Given the description of an element on the screen output the (x, y) to click on. 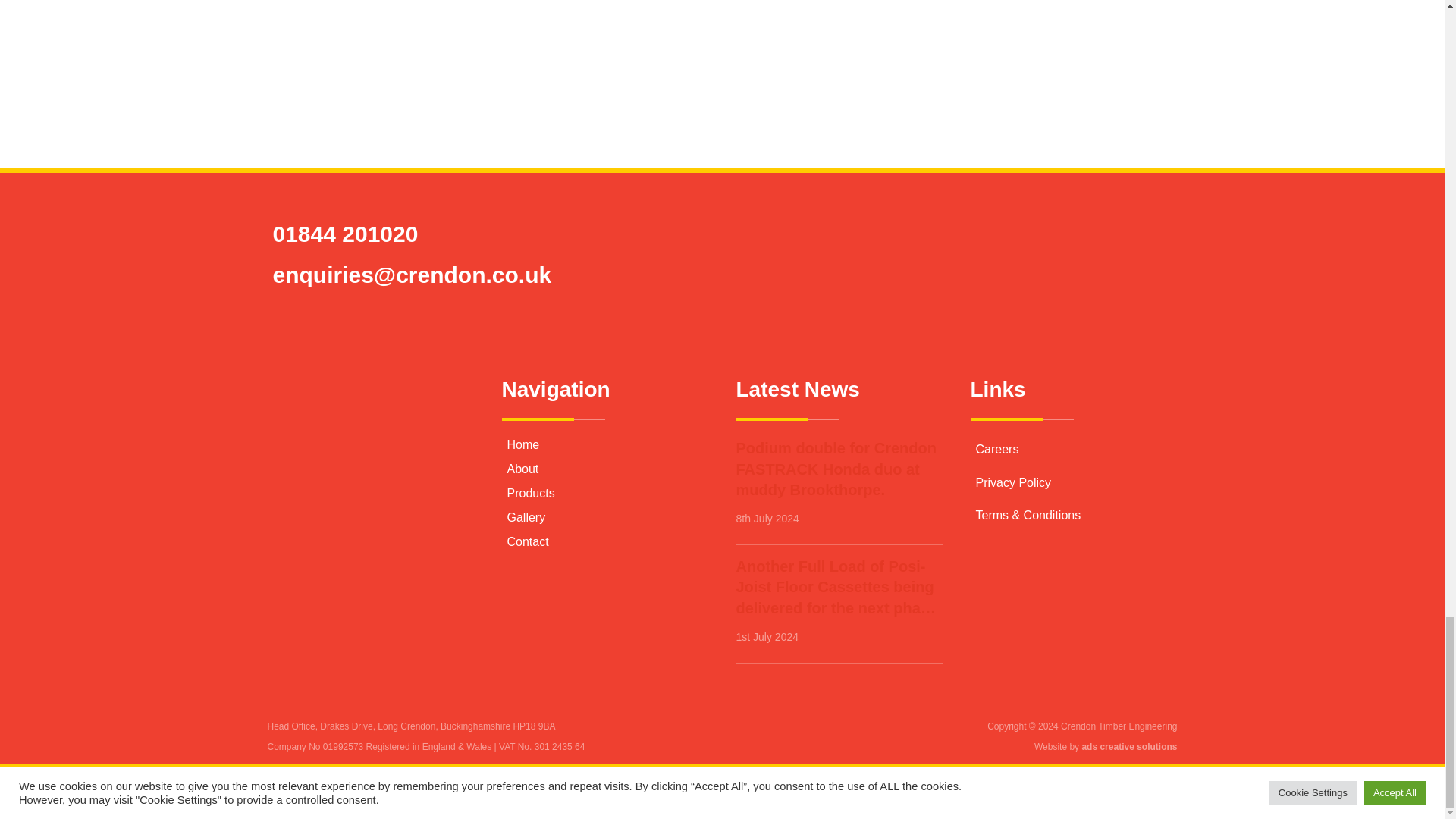
Logo-TRA (1001, 17)
ISO9001BLUE2022 (628, 6)
Crendon-Logo-White (349, 420)
Logo-Constructionline (722, 101)
